Given the description of an element on the screen output the (x, y) to click on. 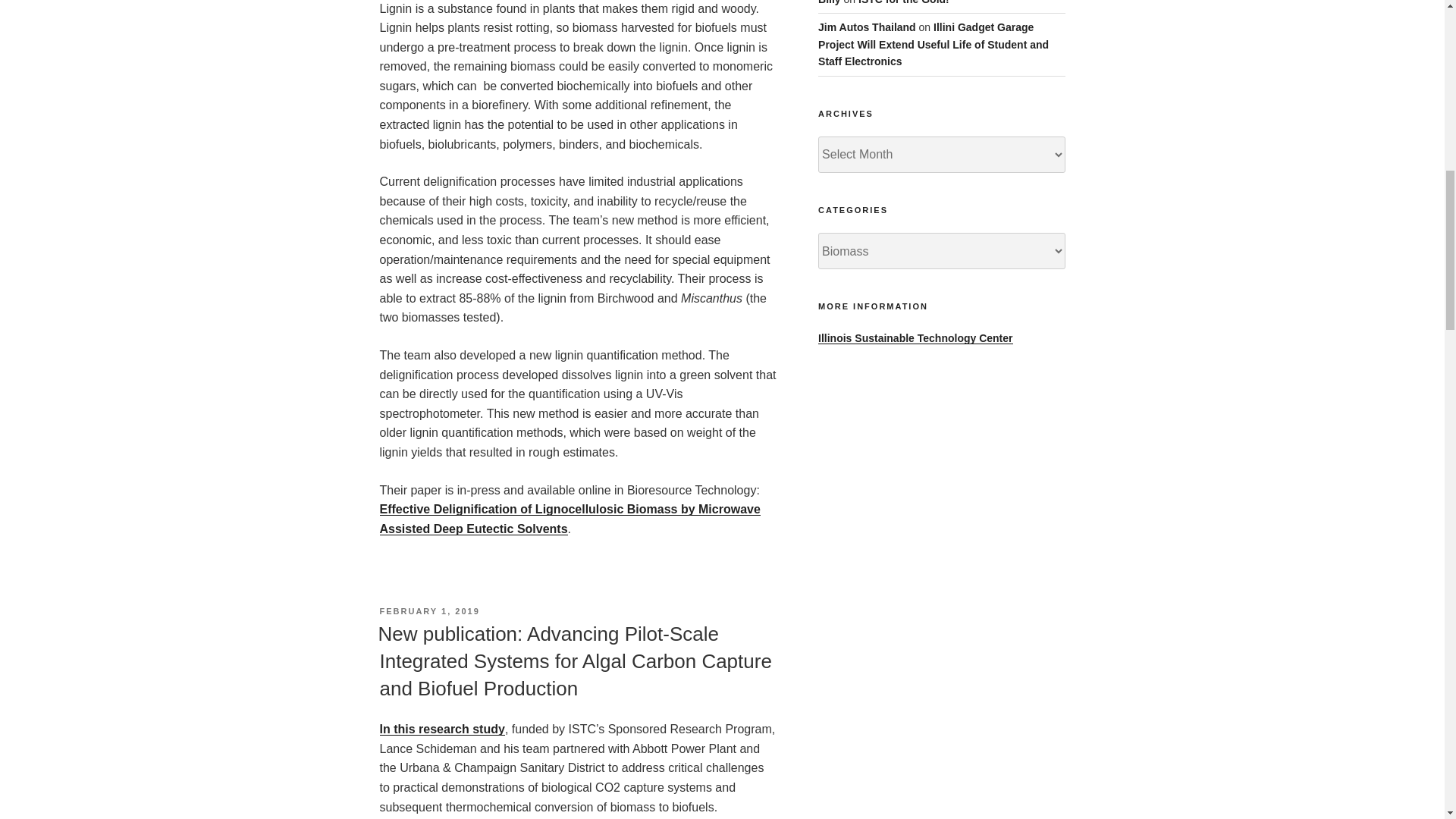
ISTC for the Gold! (904, 2)
FEBRUARY 1, 2019 (428, 610)
Illinois Sustainable Technology Center (914, 337)
In this research study (440, 728)
Billy (829, 2)
Jim Autos Thailand (866, 27)
